Given the description of an element on the screen output the (x, y) to click on. 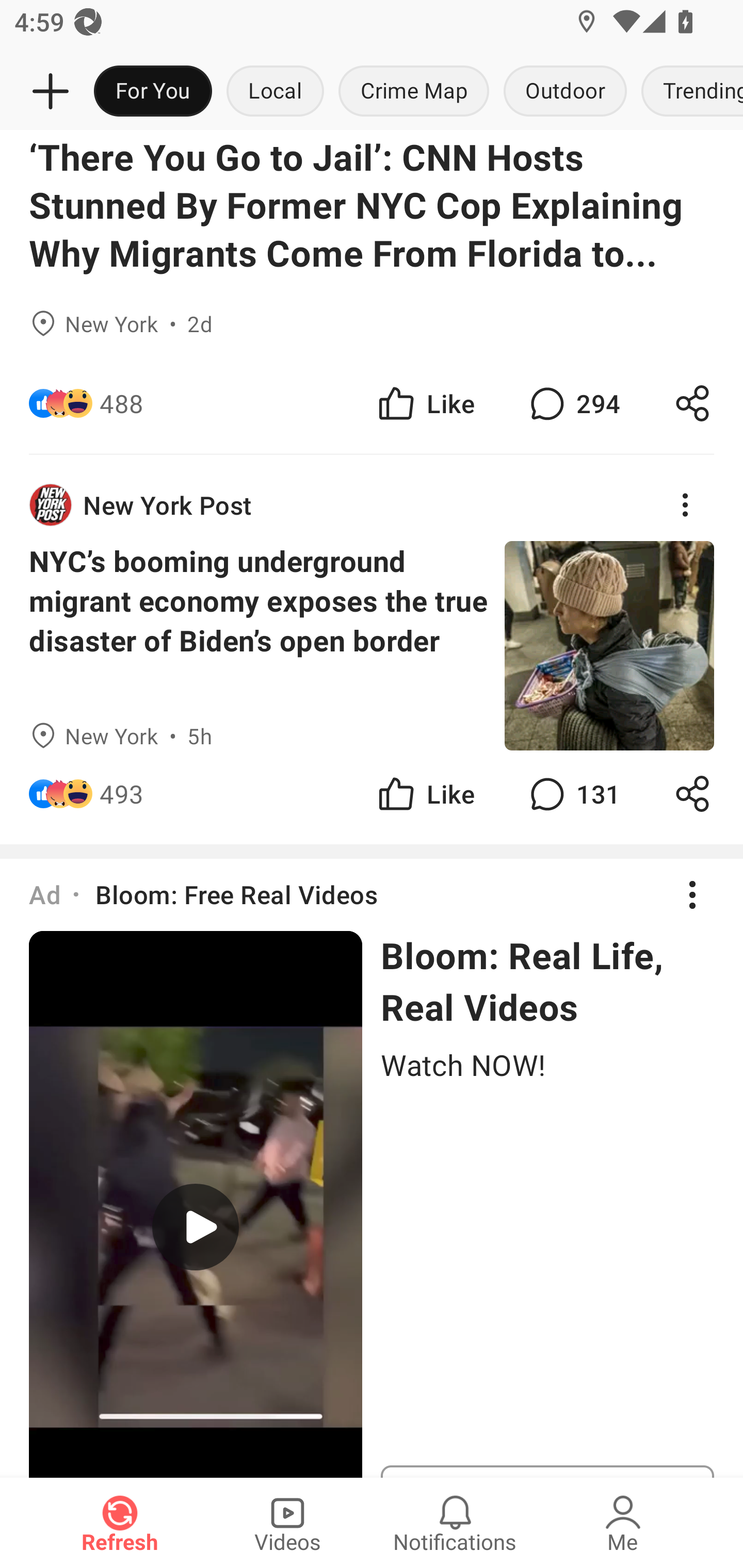
For You (152, 91)
Local (275, 91)
Crime Map (413, 91)
Outdoor (564, 91)
Trending (688, 91)
488 (121, 403)
Like (425, 403)
294 (572, 403)
493 (121, 794)
Like (425, 794)
131 (572, 794)
Bloom: Free Real Videos (236, 894)
Bloom: Real Life, Real Videos (547, 980)
Watch NOW! (547, 1063)
Videos (287, 1522)
Notifications (455, 1522)
Me (622, 1522)
